Given the description of an element on the screen output the (x, y) to click on. 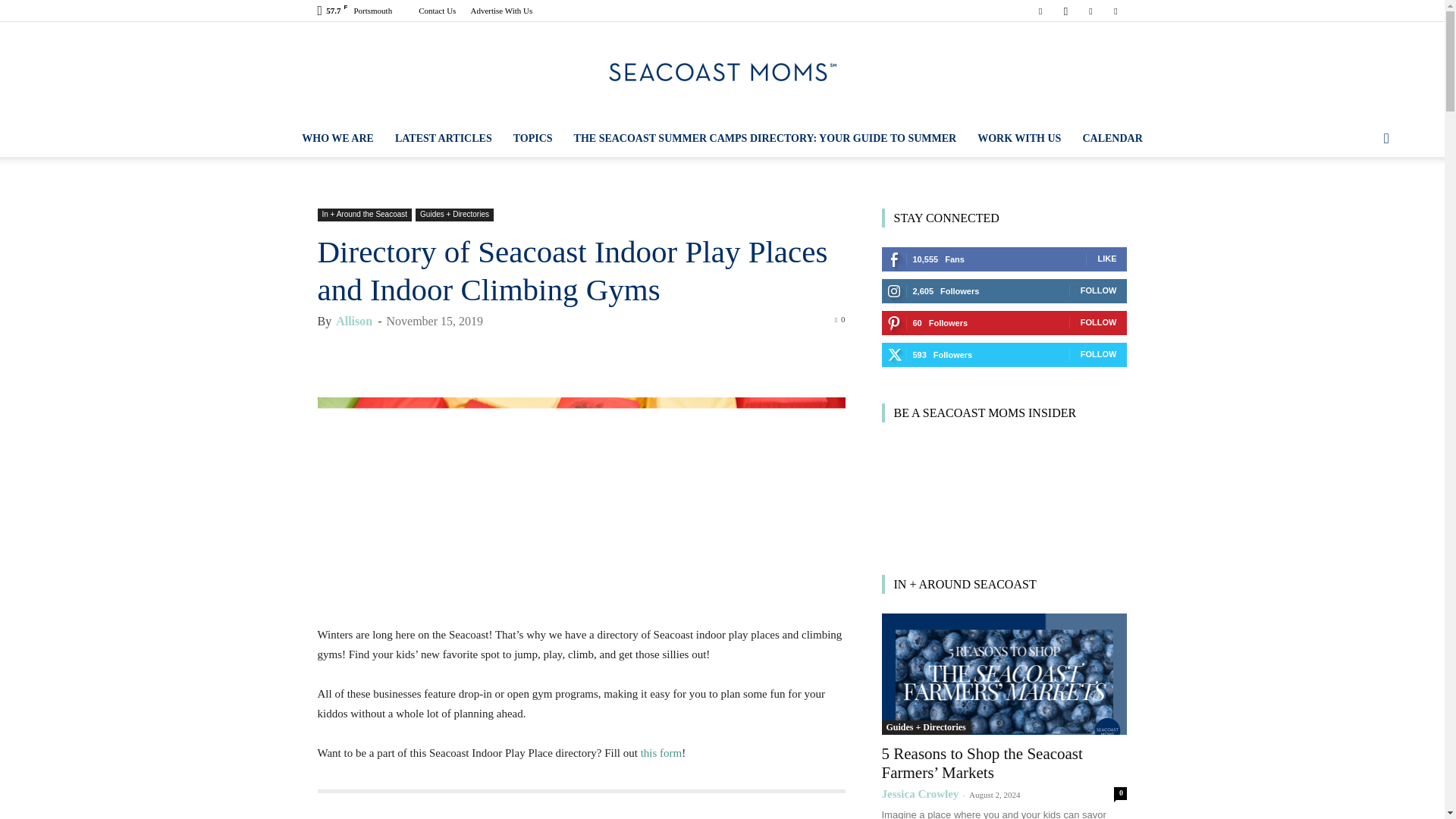
Facebook (1040, 10)
Pinterest (1090, 10)
Seacoast Moms (721, 72)
Twitter (1114, 10)
Advertise With Us (501, 10)
Contact Us (437, 10)
Instagram (1065, 10)
